Given the description of an element on the screen output the (x, y) to click on. 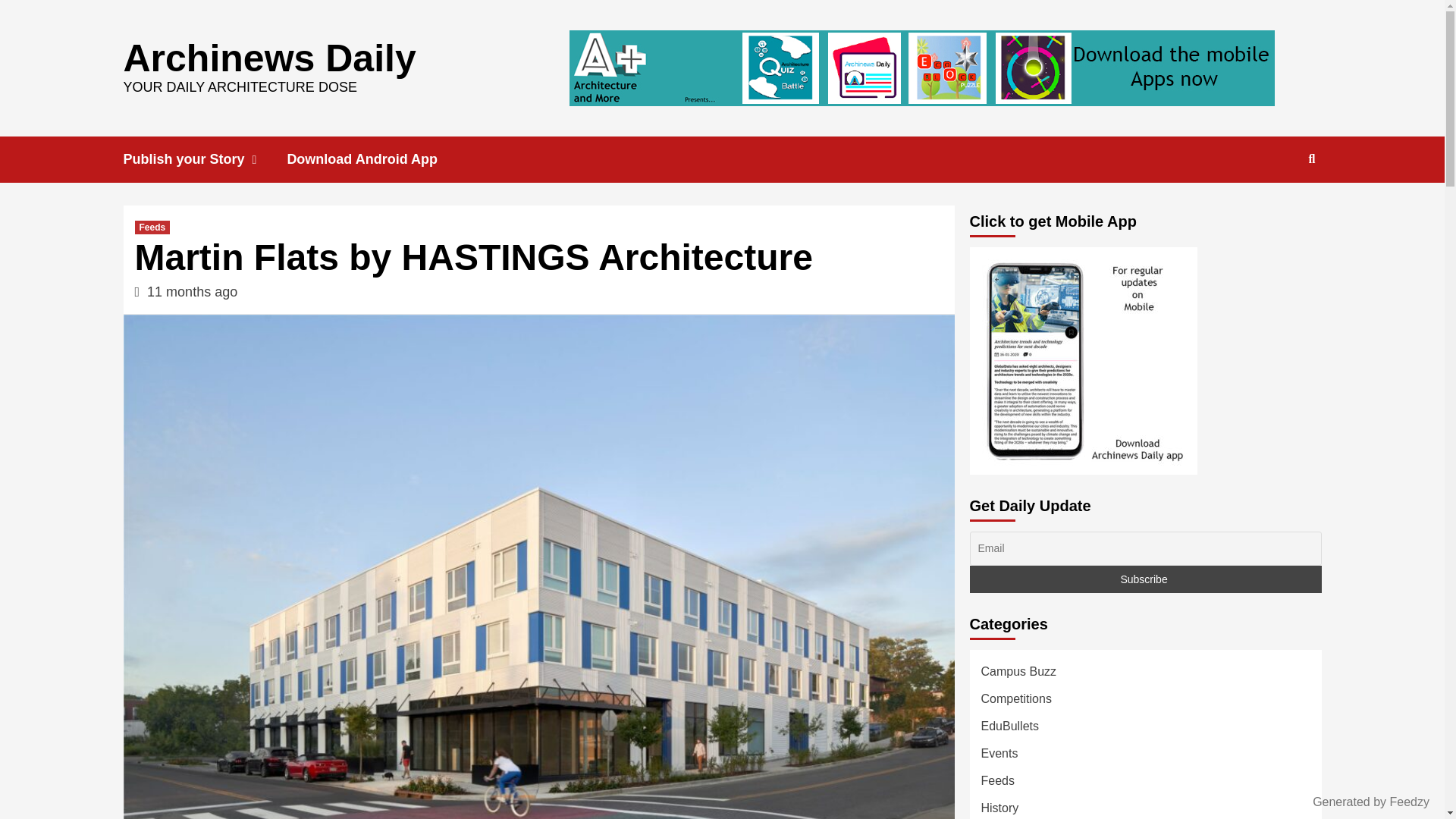
Download Android App (373, 159)
Archinews Daily (268, 57)
11 months ago (192, 291)
Feeds (152, 227)
Click to get Mobile App (1082, 361)
Search (1276, 207)
Publish your Story (204, 159)
Subscribe  (1144, 578)
